Given the description of an element on the screen output the (x, y) to click on. 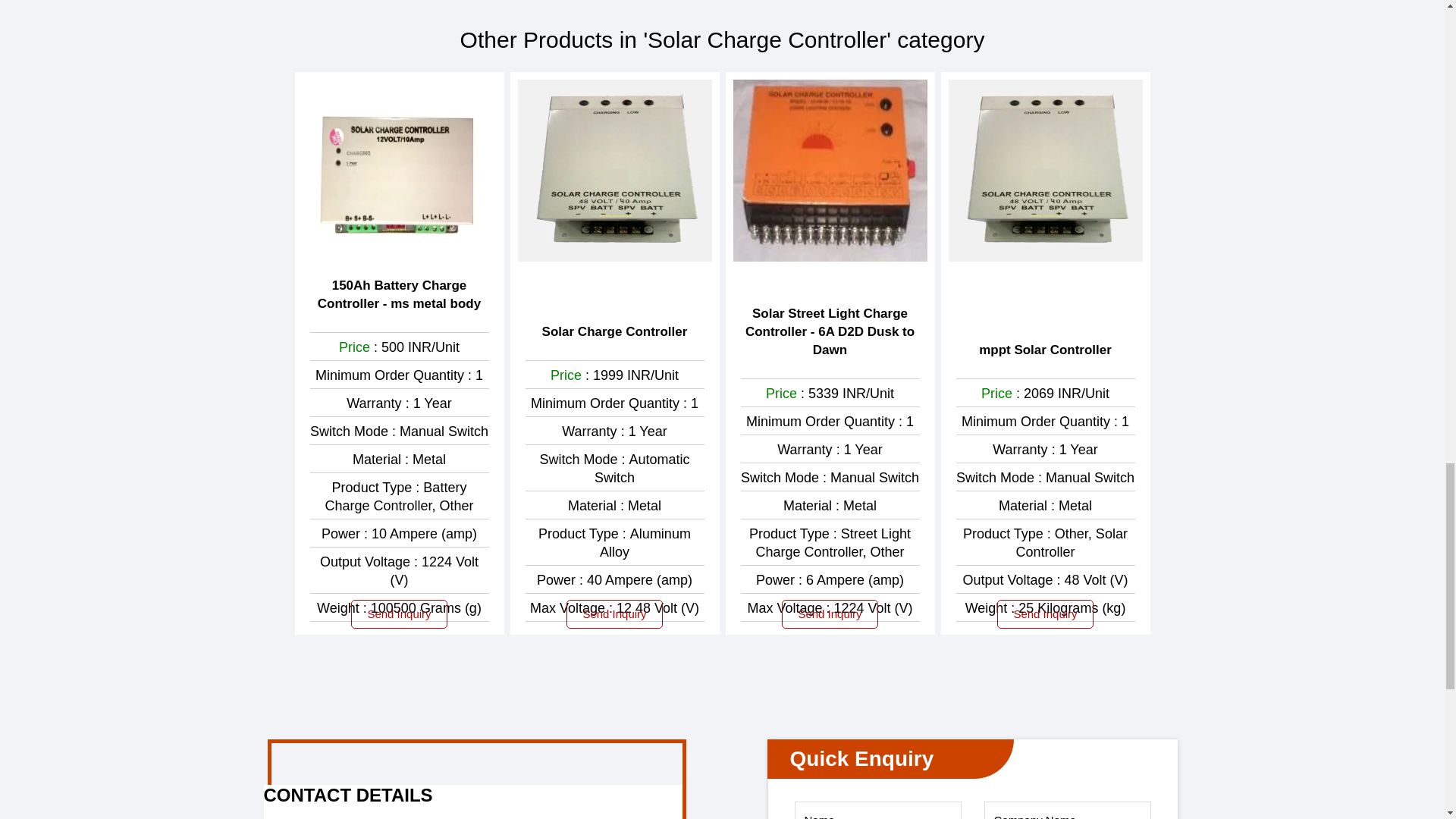
Name (877, 810)
Company Name (1067, 810)
